Given the description of an element on the screen output the (x, y) to click on. 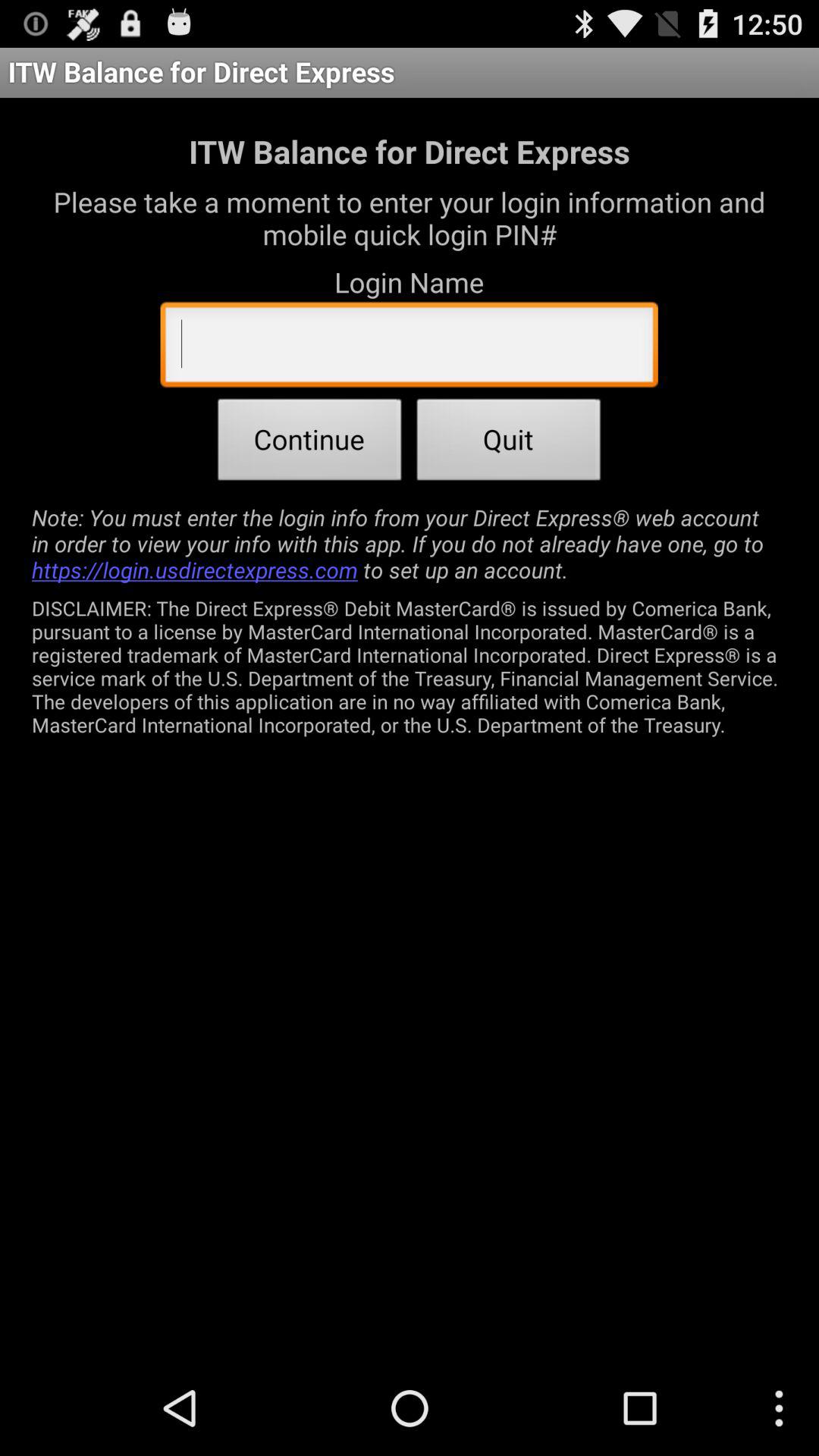
turn off the app below the login name app (409, 348)
